Given the description of an element on the screen output the (x, y) to click on. 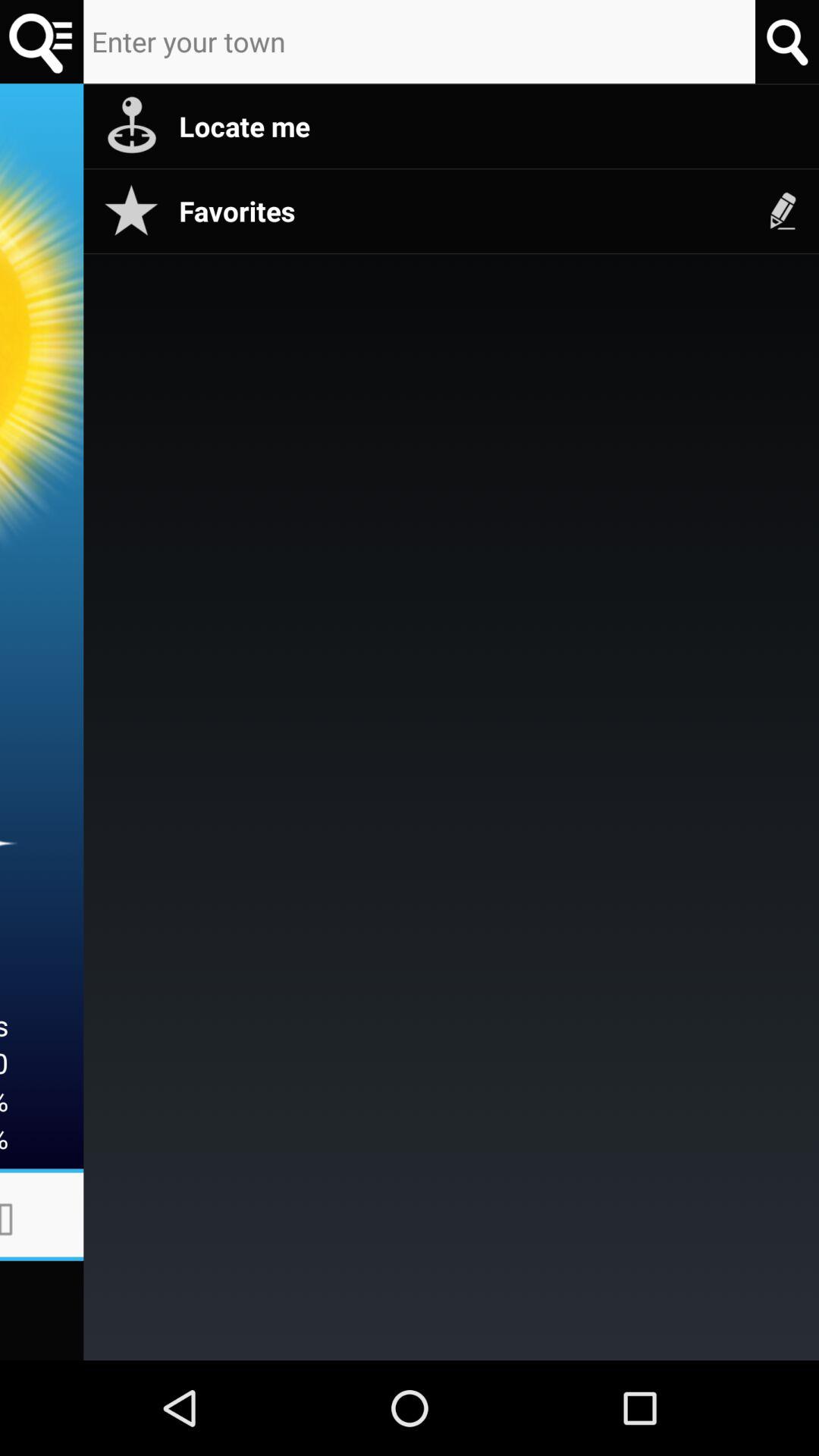
type in your town (41, 41)
